Given the description of an element on the screen output the (x, y) to click on. 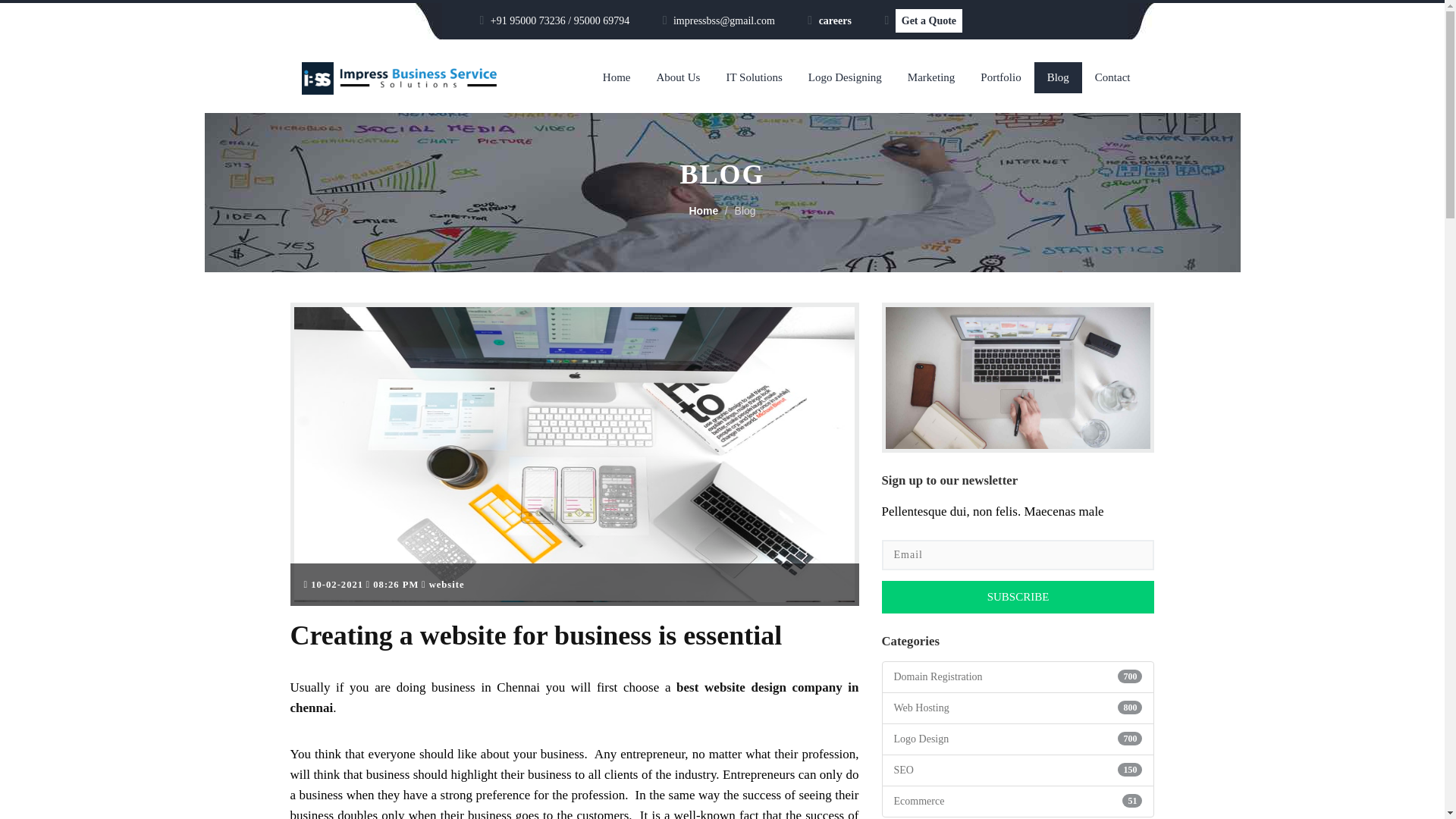
IT Solutions (753, 77)
Get a Quote (928, 20)
Contact (1111, 77)
Marketing (931, 77)
careers (834, 20)
Subscribe (1017, 596)
About Us (678, 77)
Portfolio (1000, 77)
Home (616, 77)
Logo Designing (844, 77)
Web Design Company in Chennai (403, 78)
Blog (1057, 77)
Home (702, 210)
